Given the description of an element on the screen output the (x, y) to click on. 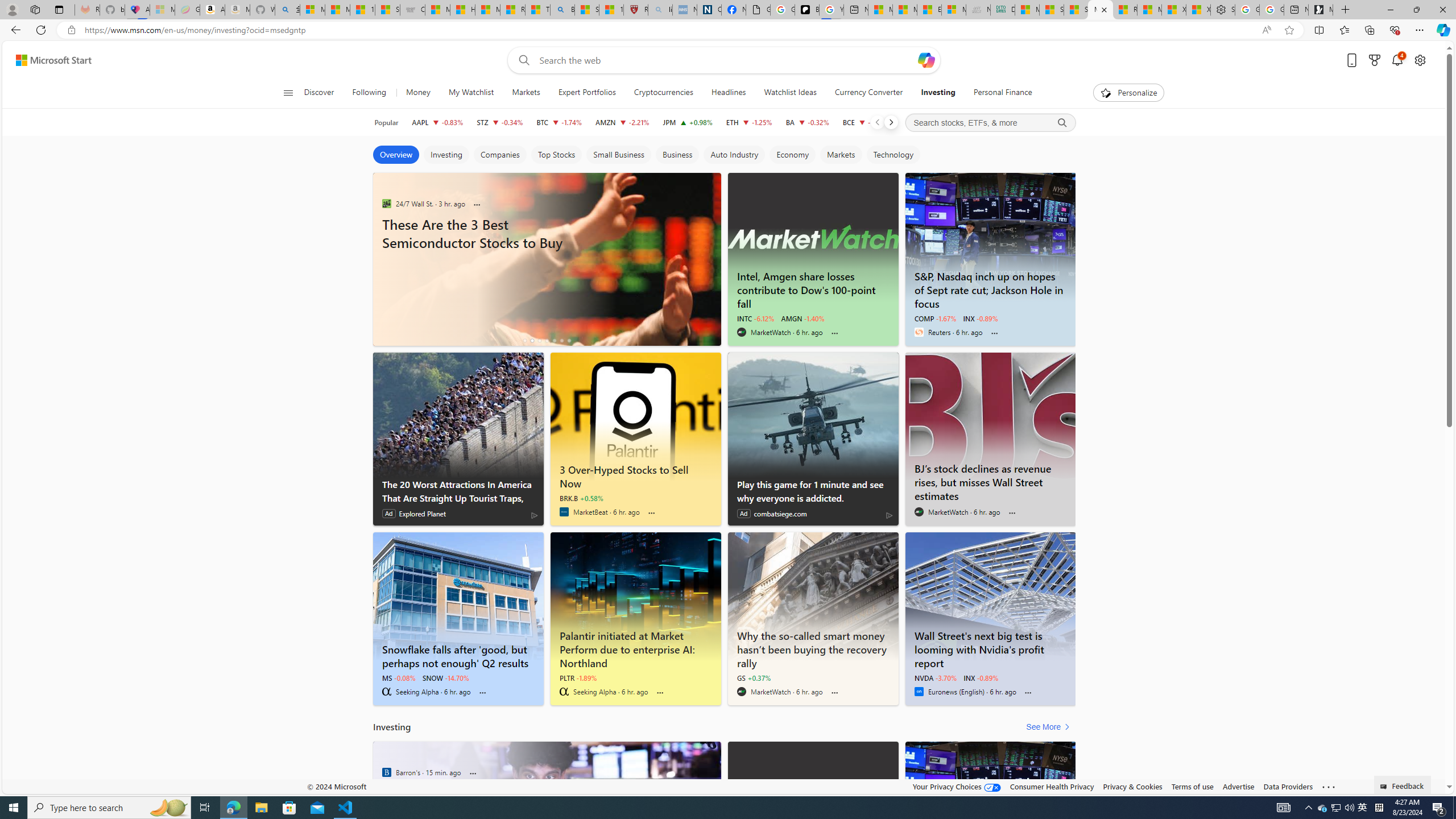
COMP -1.67% (935, 317)
GS +0.37% (753, 677)
Previous (876, 122)
NVDA -3.70% (935, 677)
INX -0.89% (980, 677)
Headlines (727, 92)
